Given the description of an element on the screen output the (x, y) to click on. 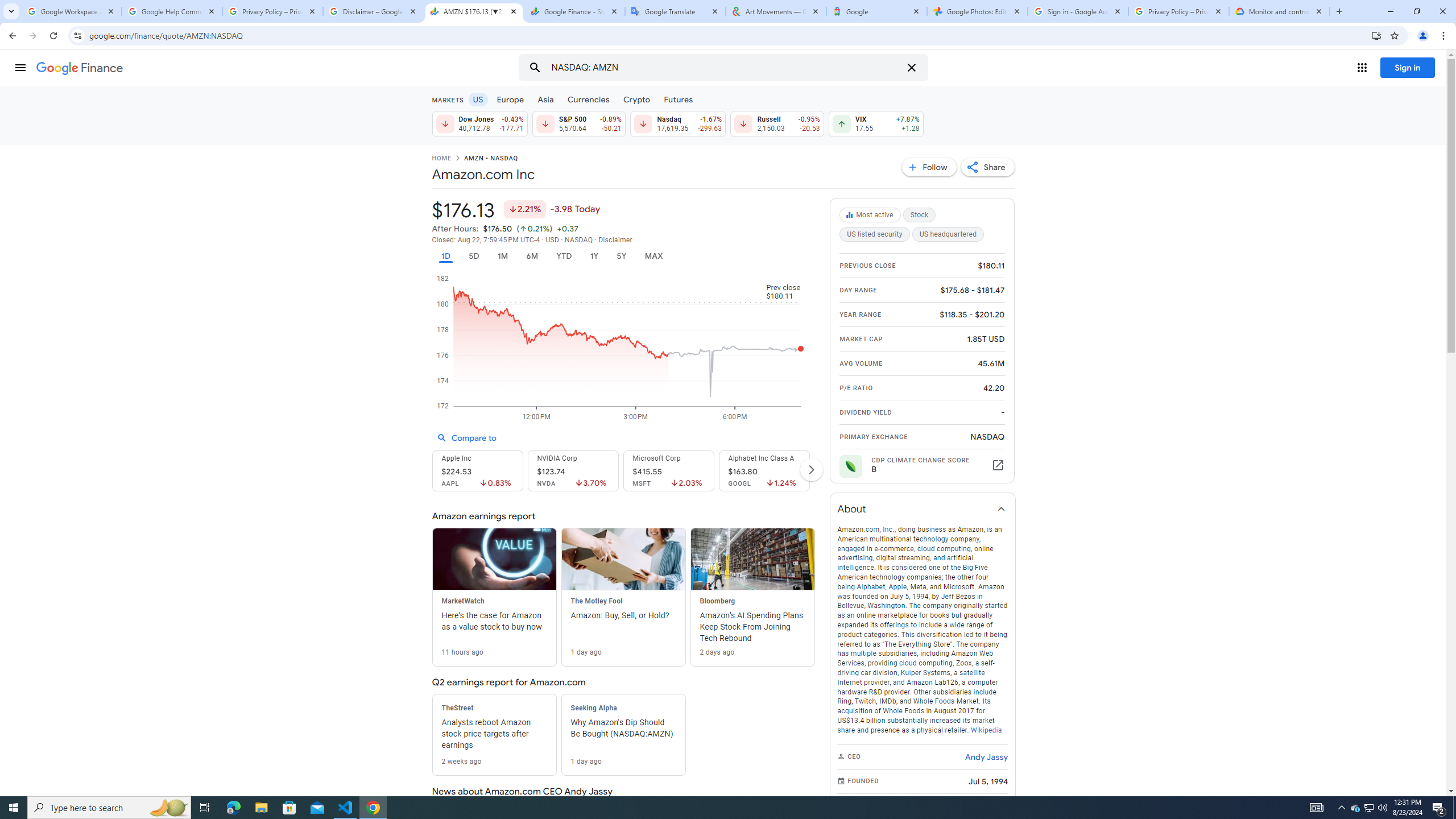
Clear search (911, 67)
Crypto (636, 99)
1Y (594, 255)
Sign in - Google Accounts (1078, 11)
Asia (545, 99)
Russell 2,150.03 Down by 0.95% -20.53 (777, 123)
Finance (79, 68)
Europe (510, 99)
